Given the description of an element on the screen output the (x, y) to click on. 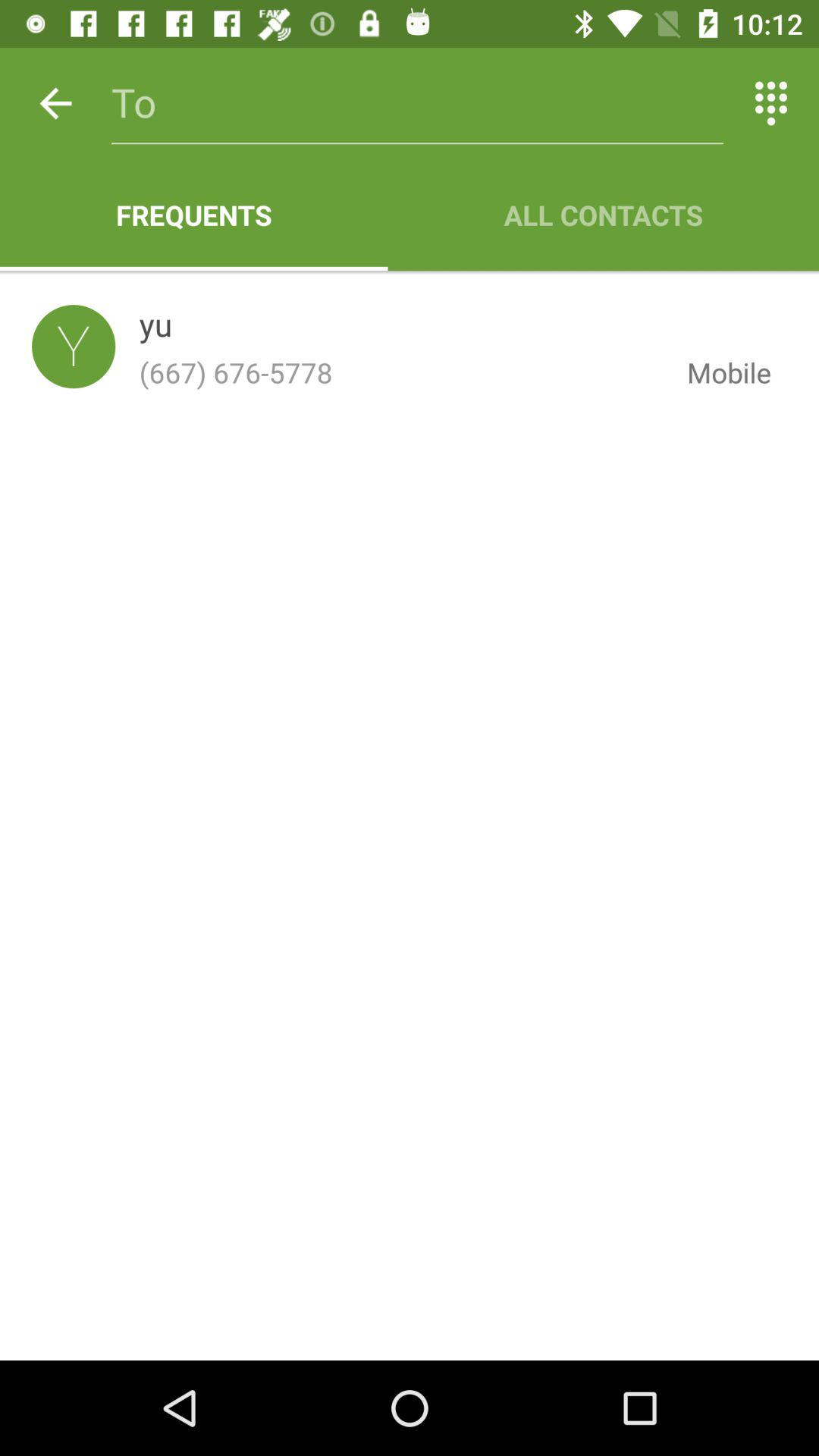
choose the icon above all contacts icon (771, 103)
